Given the description of an element on the screen output the (x, y) to click on. 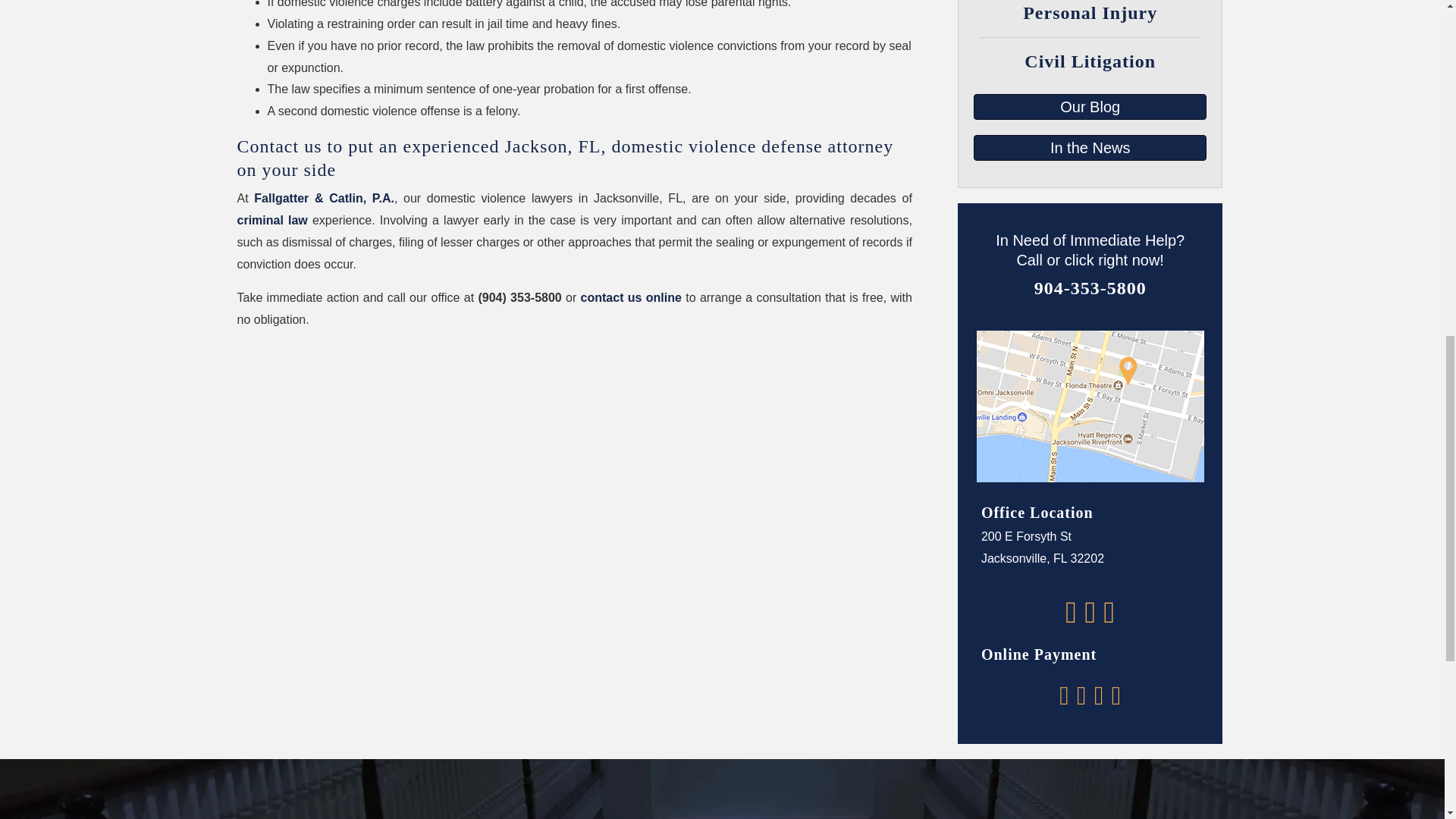
contact us online (630, 297)
Contact Us (630, 297)
Personal Injury (1090, 12)
fallgatter-catlin-pa-map (1090, 406)
Civil Litigation (1090, 61)
criminal law (271, 219)
